Given the description of an element on the screen output the (x, y) to click on. 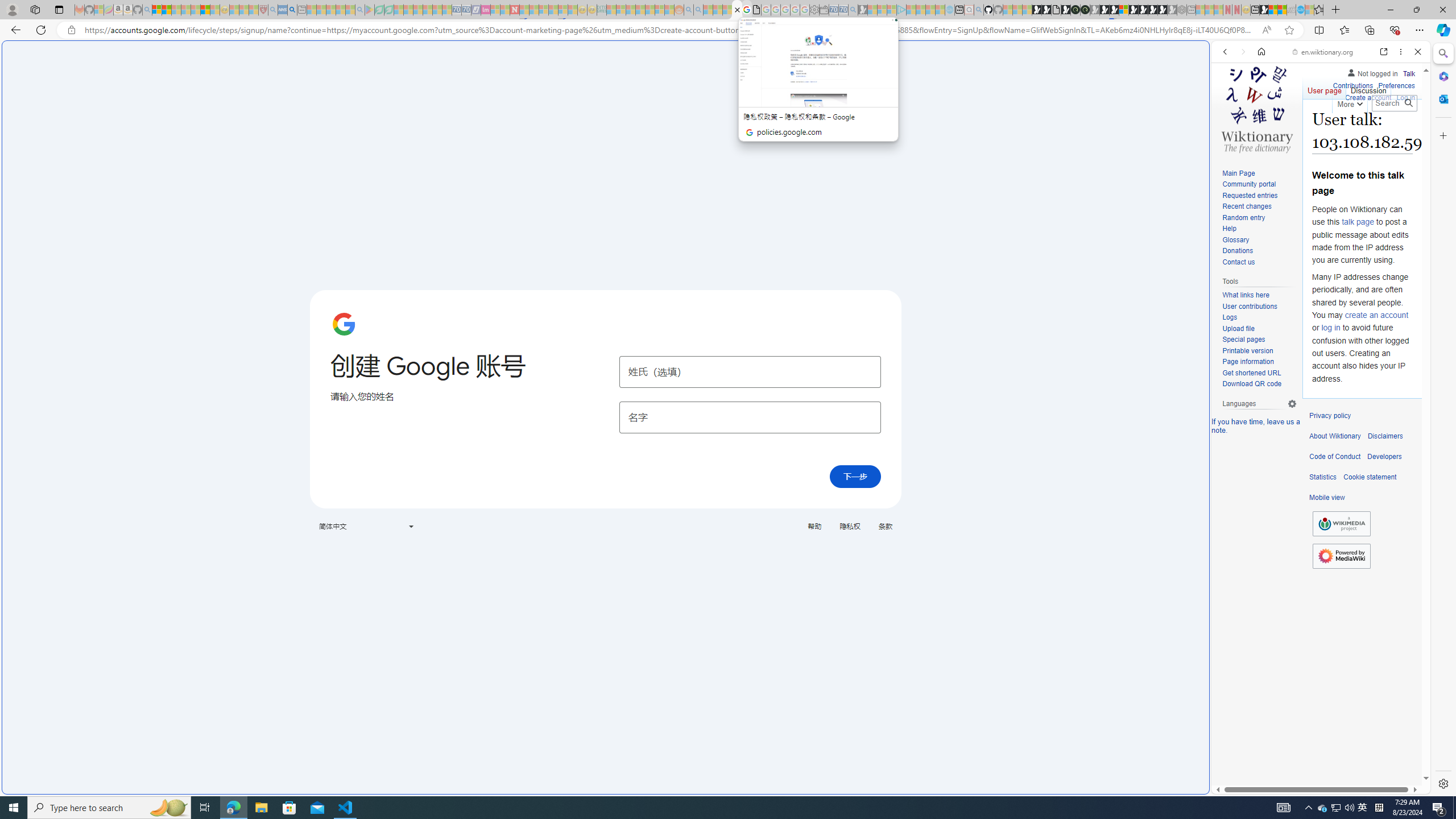
google - Search - Sleeping (359, 9)
Statistics (1322, 477)
Recent changes (1246, 206)
Talk (1408, 73)
Contact us (1259, 262)
Random entry (1259, 218)
Donations (1259, 251)
Developers (1384, 456)
